Given the description of an element on the screen output the (x, y) to click on. 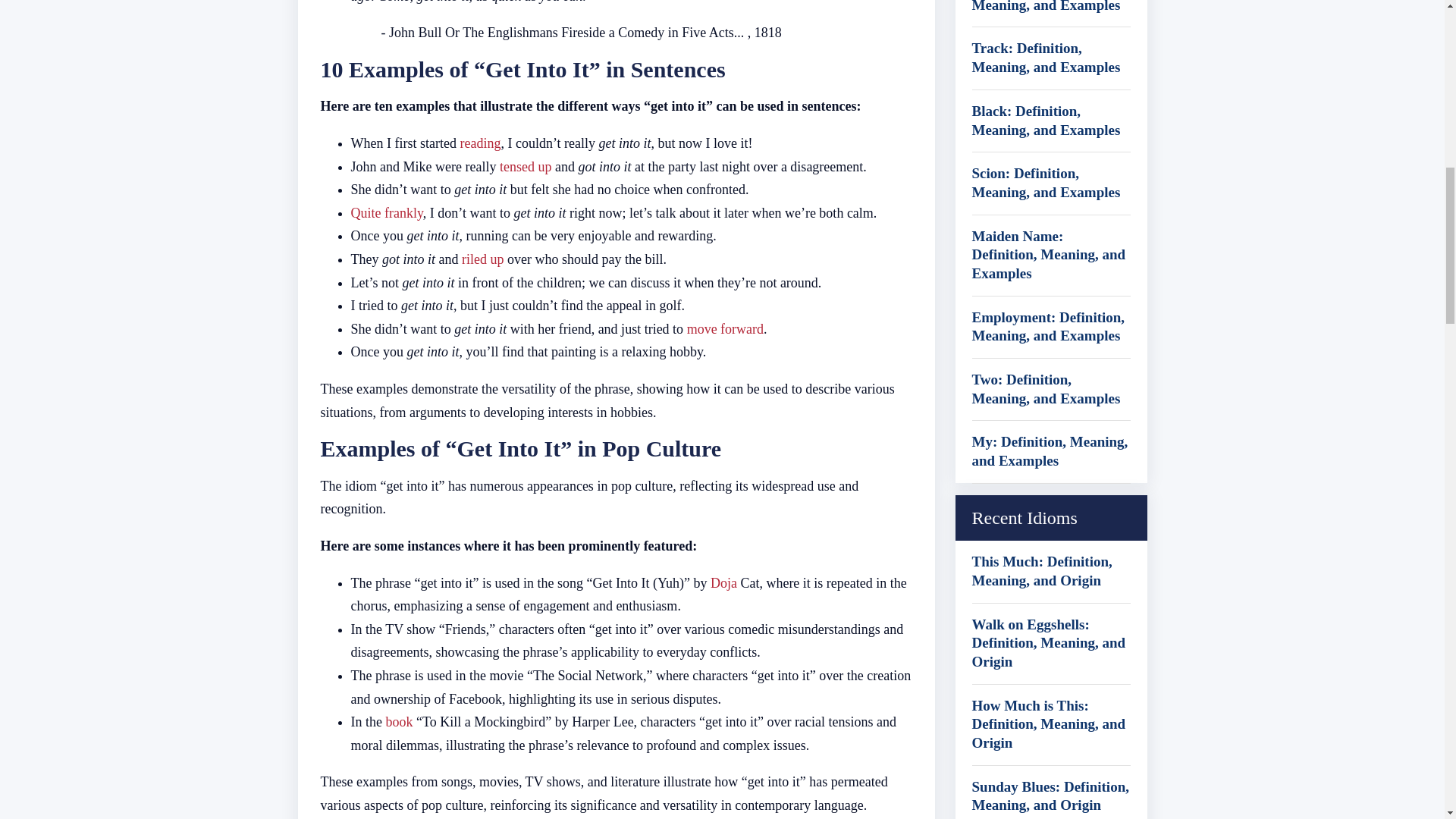
move forward (724, 328)
tensed up (525, 166)
reading (480, 142)
riled up (482, 258)
book (398, 721)
Quite frankly (386, 212)
Doja (723, 582)
